Given the description of an element on the screen output the (x, y) to click on. 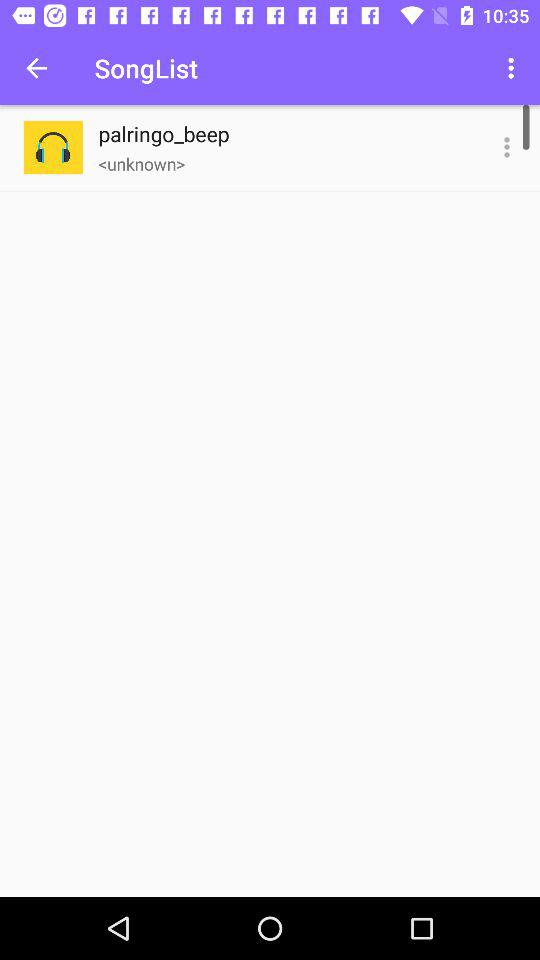
press the item to the right of songlist item (513, 67)
